Given the description of an element on the screen output the (x, y) to click on. 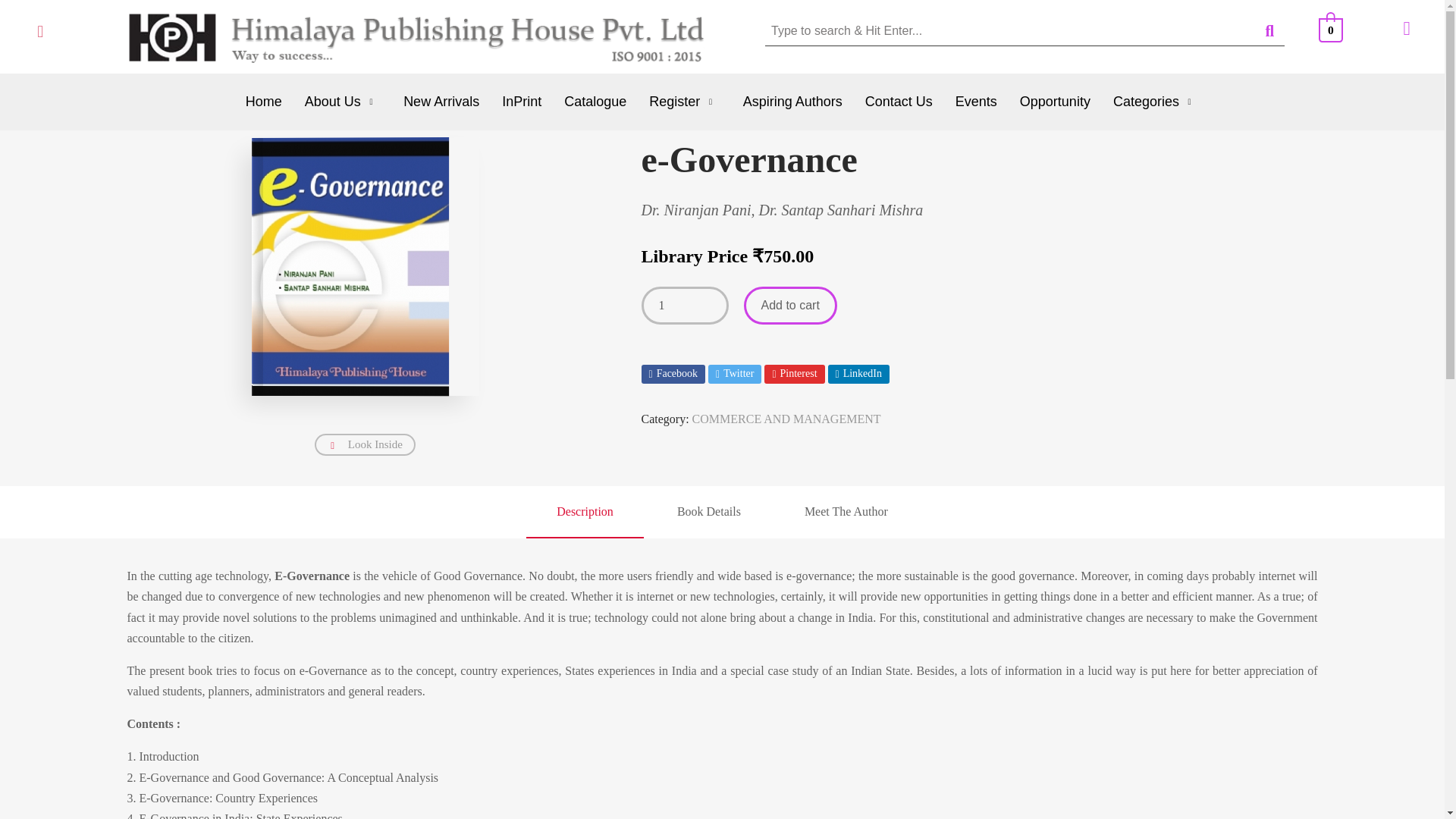
About Us (342, 101)
Home (264, 101)
Search (1009, 30)
0 (1331, 28)
1 (685, 305)
View your shopping cart (1331, 28)
